Given the description of an element on the screen output the (x, y) to click on. 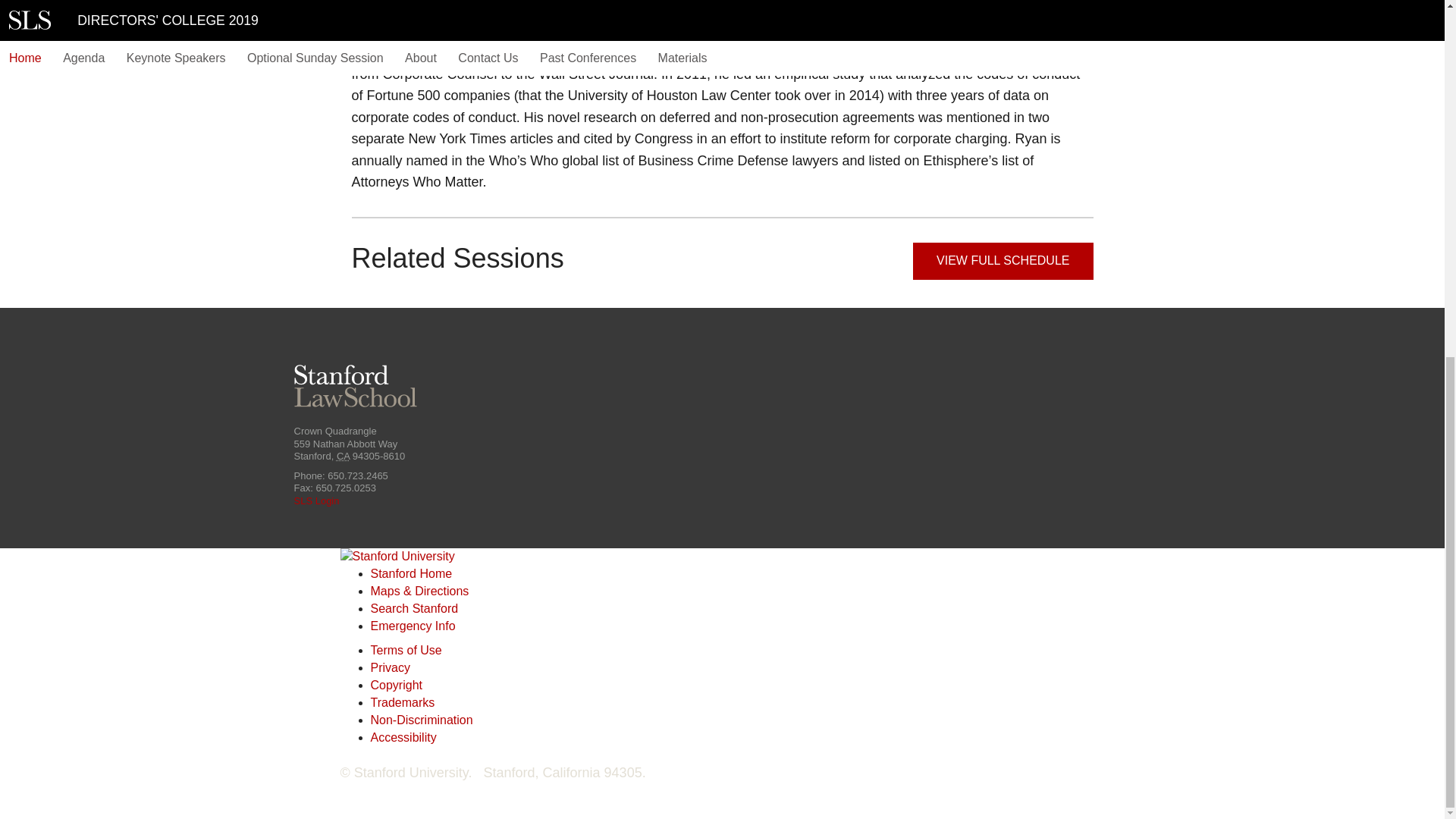
SLS Login (316, 500)
Terms of use for sites (405, 649)
Non-discrimination policy (420, 719)
Ownership and use of Stanford trademarks and images (401, 702)
Stanford Law School (355, 385)
VIEW FULL SCHEDULE (1002, 261)
California (342, 455)
Report alleged copyright infringement (395, 684)
Privacy and cookie policy (389, 667)
Report web accessibility issues (402, 737)
